Given the description of an element on the screen output the (x, y) to click on. 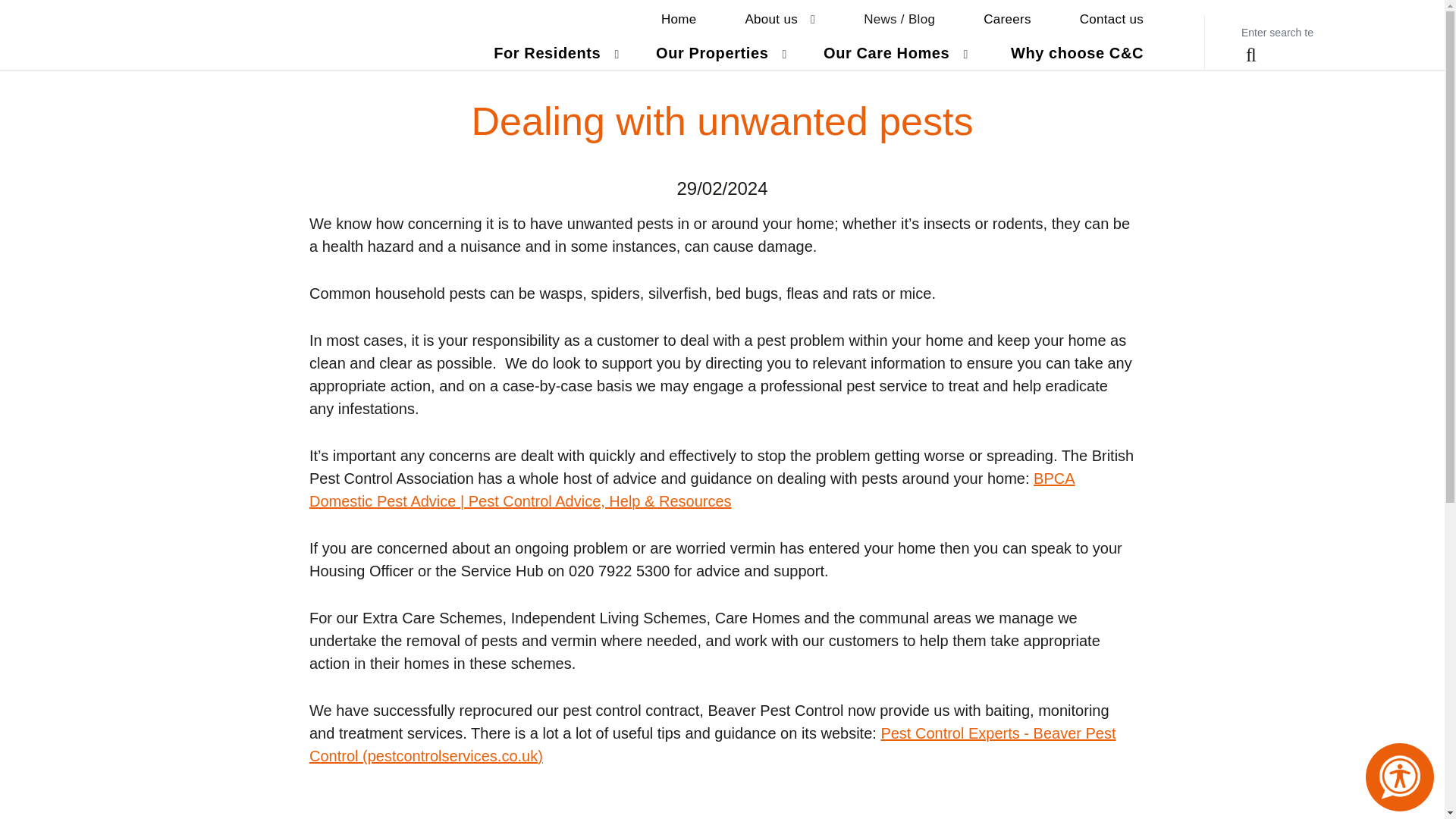
Careers (1007, 19)
Contact us (1111, 19)
Home (780, 19)
